Given the description of an element on the screen output the (x, y) to click on. 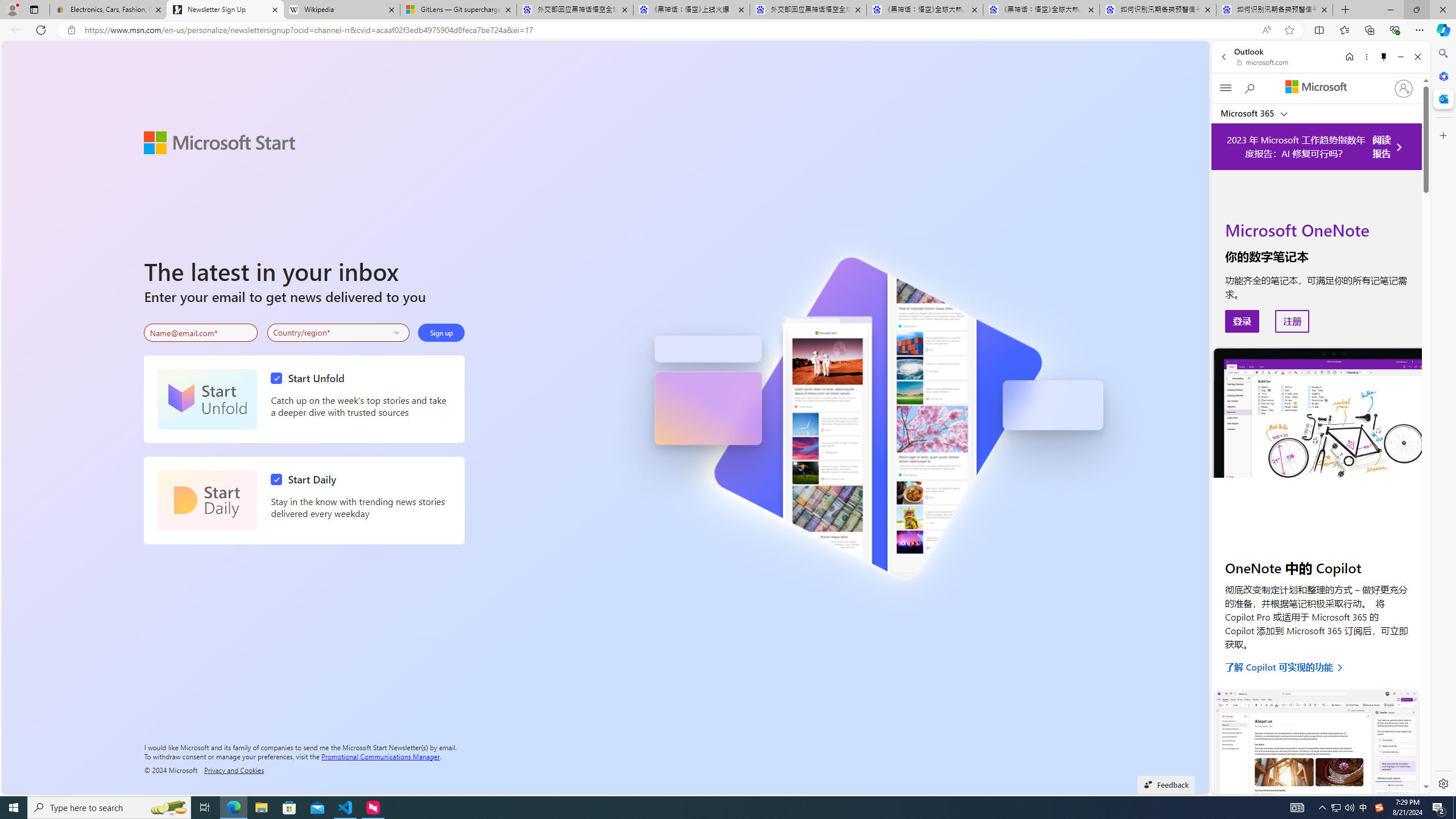
microsoft.com (1263, 61)
Promotional Communications Manager (380, 755)
Newsletter Sign Up (224, 9)
Start Daily (207, 500)
